Given the description of an element on the screen output the (x, y) to click on. 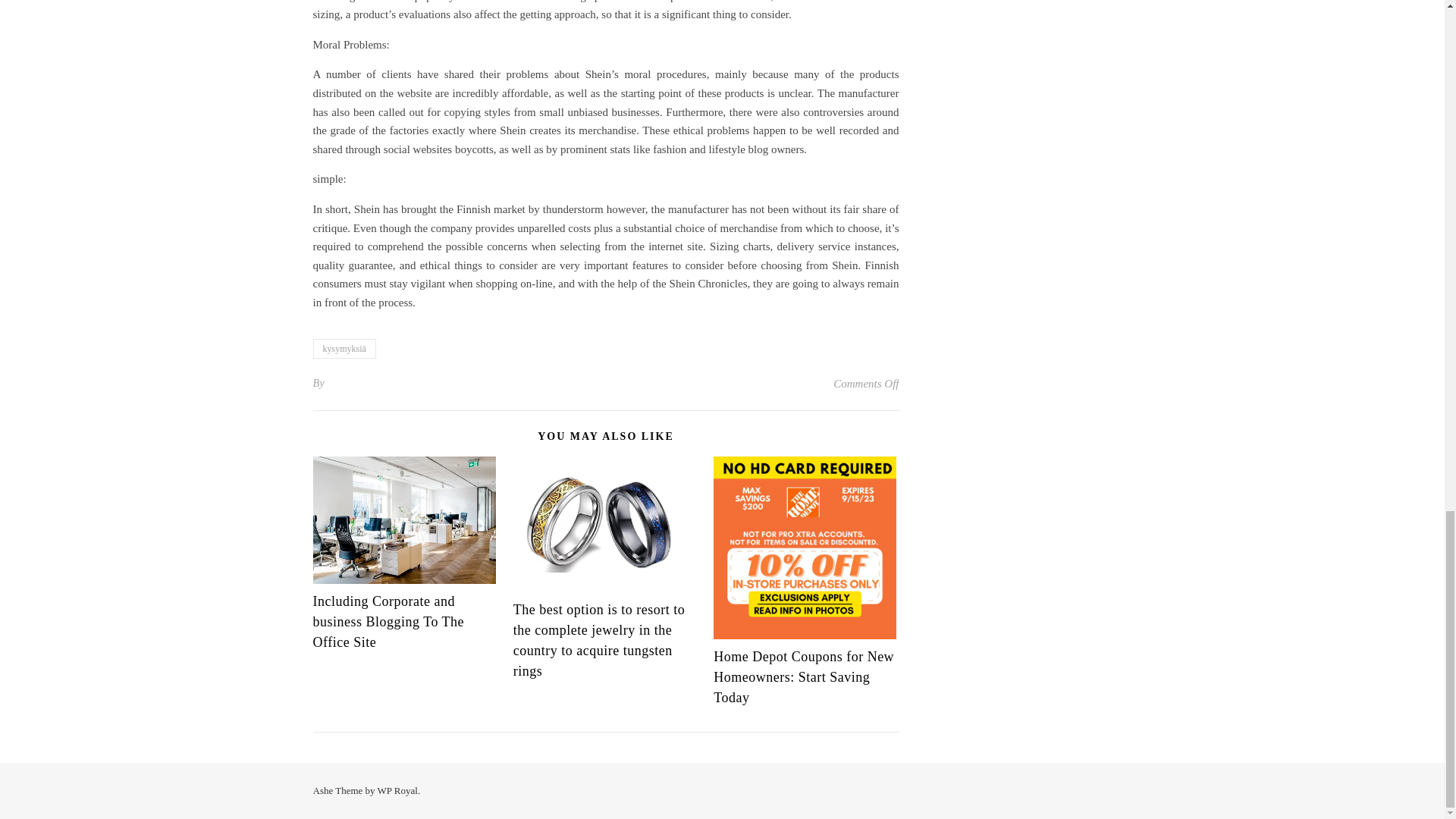
Including Corporate and business Blogging To The Office Site (388, 621)
WP Royal (397, 790)
Home Depot Coupons for New Homeowners: Start Saving Today (803, 677)
